Given the description of an element on the screen output the (x, y) to click on. 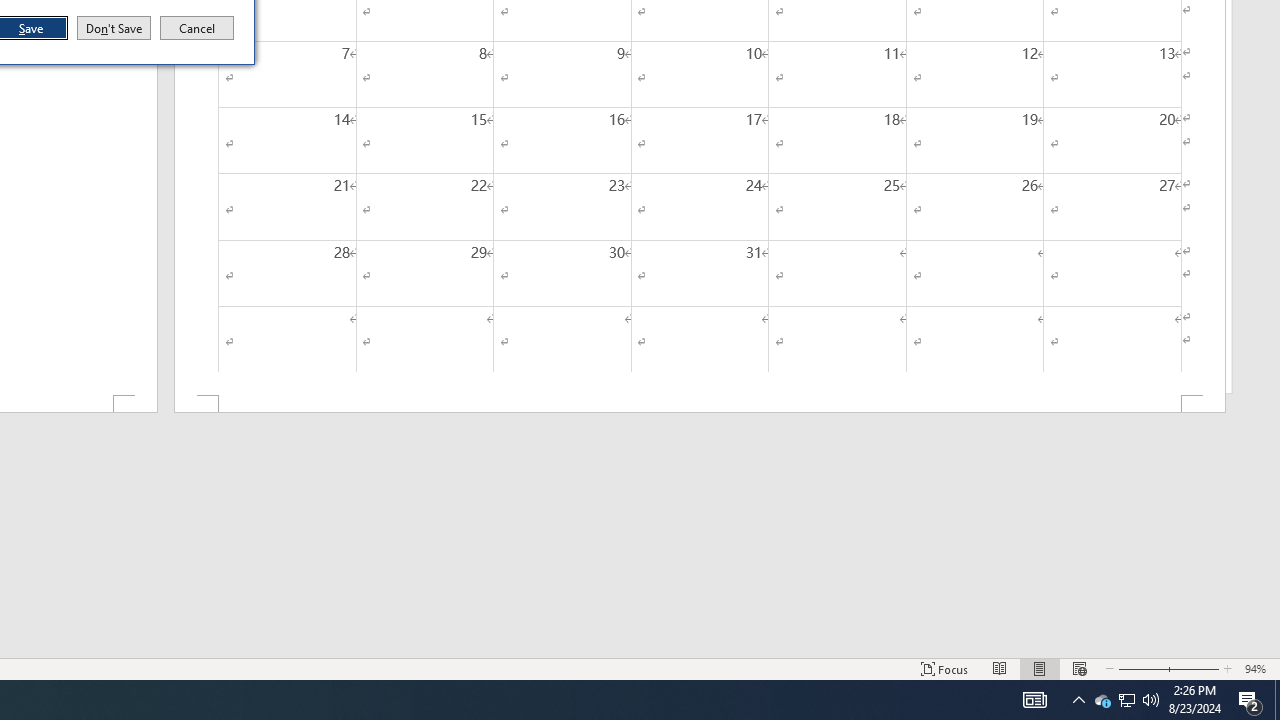
Notification Chevron (1102, 699)
Q2790: 100% (1078, 699)
Footer -Section 1- (1151, 699)
Cancel (700, 404)
Action Center, 2 new notifications (197, 27)
AutomationID: 4105 (1250, 699)
